Given the description of an element on the screen output the (x, y) to click on. 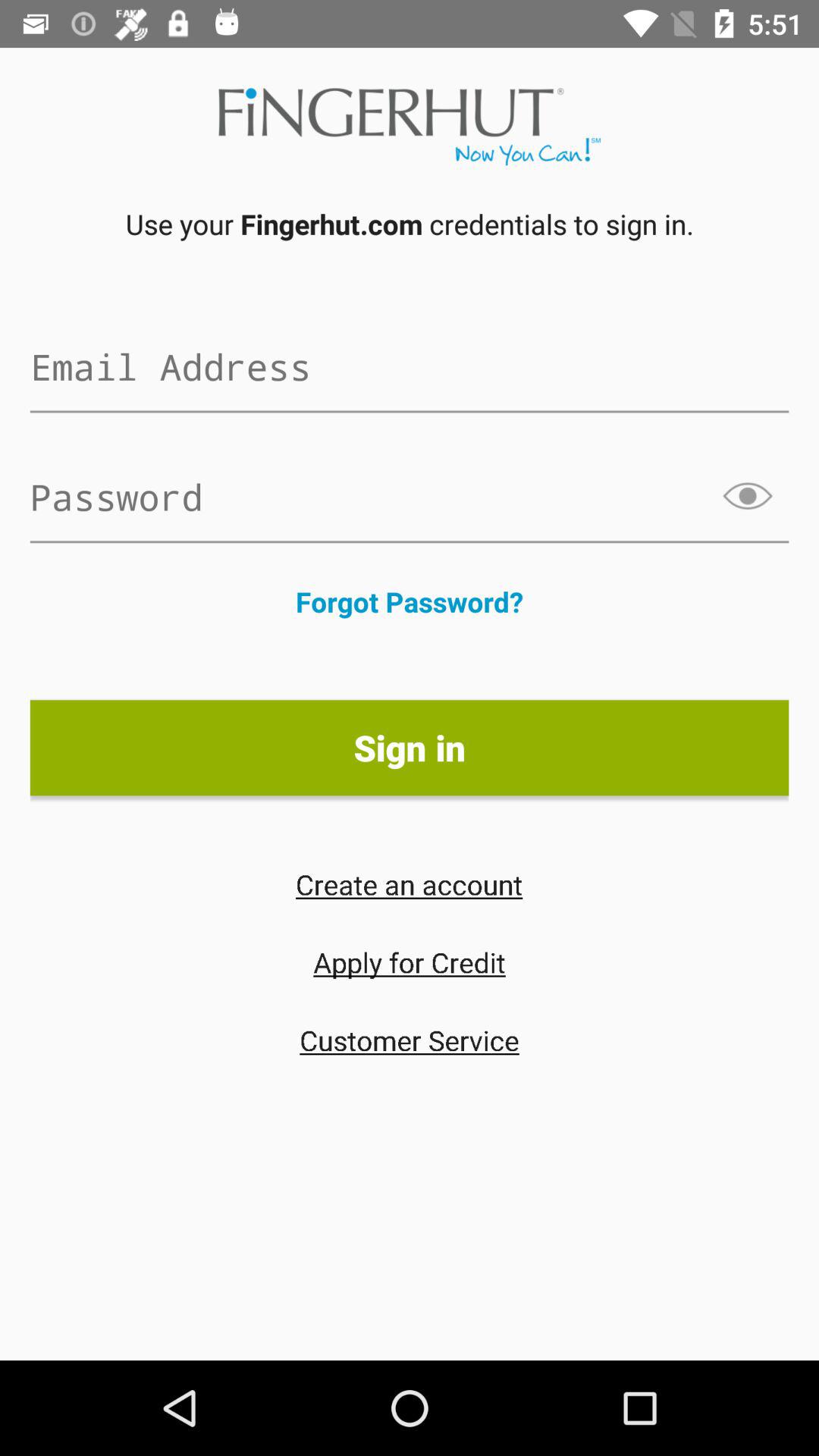
turn on icon on the right (748, 496)
